Given the description of an element on the screen output the (x, y) to click on. 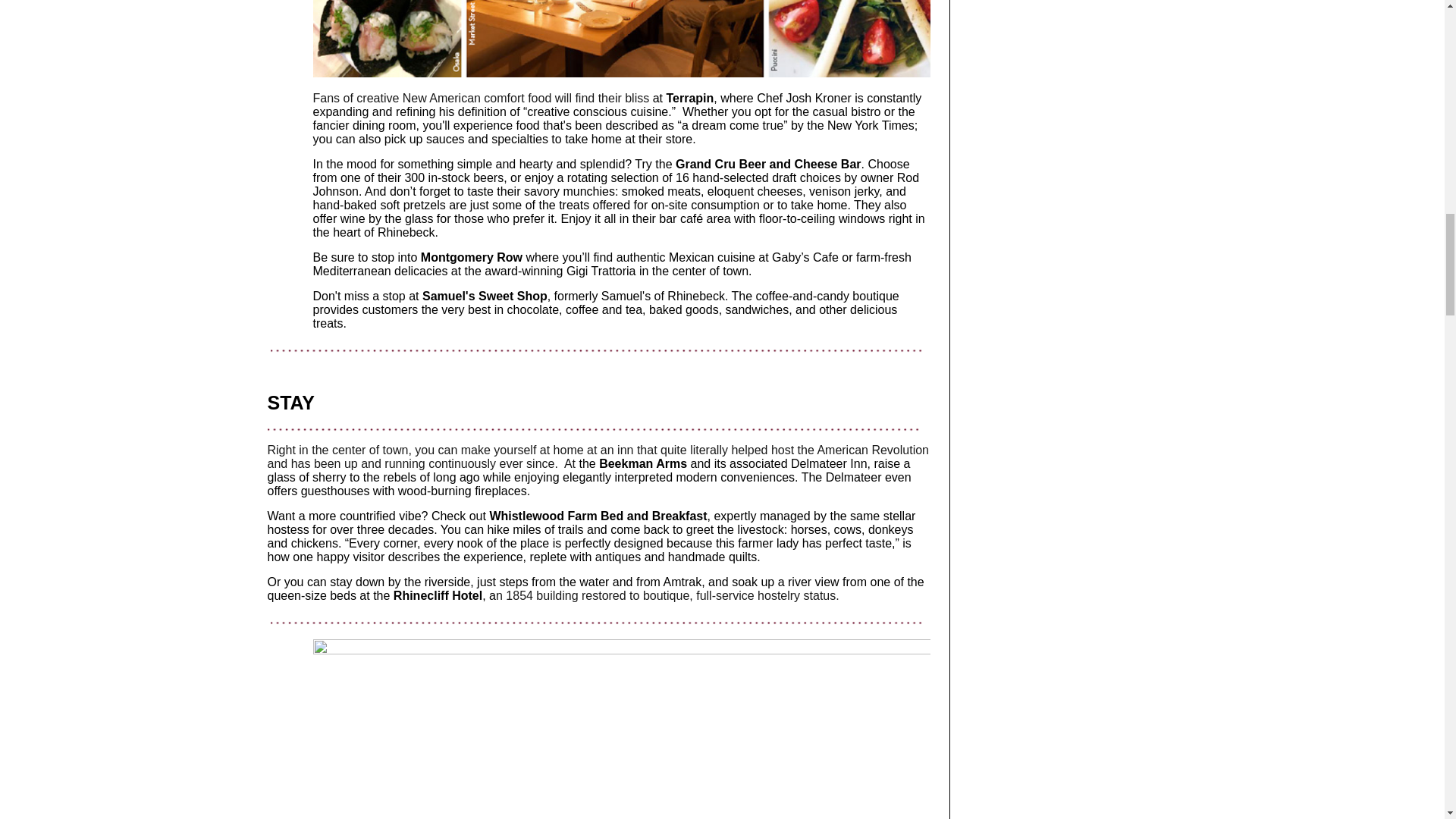
Terrapin (689, 97)
Grand Cru Beer and Cheese Bar (766, 164)
Montgomery Row (471, 256)
